Given the description of an element on the screen output the (x, y) to click on. 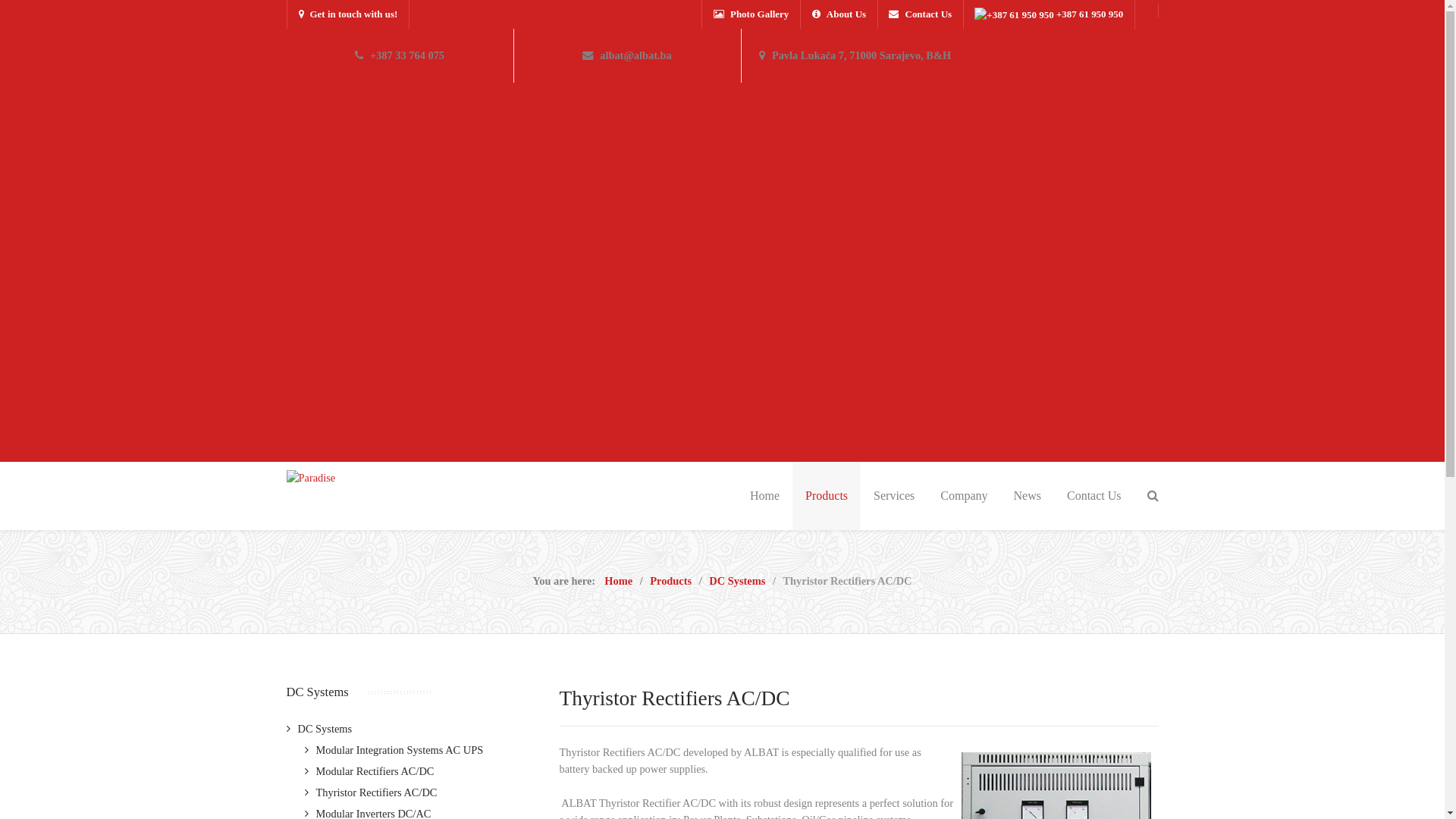
Documentation Element type: text (780, 579)
+387 61 950 950 Element type: text (1048, 14)
Facebook Element type: hover (1078, 782)
DC Systems Element type: text (737, 580)
Company Element type: text (963, 495)
Company Information Element type: text (795, 558)
Thyristor Rectifiers AC/DC Element type: text (370, 792)
 Linkedin Element type: hover (1111, 782)
DC Systems Element type: text (319, 728)
Contact Us Element type: text (771, 600)
Products Element type: text (670, 580)
Terms & Conditions Element type: text (791, 536)
Services Element type: text (893, 495)
Modular Integration Systems AC UPS Element type: text (393, 749)
Get in touch with us! Element type: text (348, 14)
Paradise Element type: hover (310, 477)
Home Element type: text (618, 580)
Photo Gallery Element type: text (751, 14)
Contact Us Element type: text (920, 14)
Modular Rectifiers AC/DC Element type: text (369, 771)
Contact Us Element type: text (1094, 495)
Instagram Element type: hover (1144, 782)
About Us Element type: text (838, 14)
Home Element type: text (764, 495)
News Element type: text (1027, 495)
Products Element type: text (826, 495)
